Given the description of an element on the screen output the (x, y) to click on. 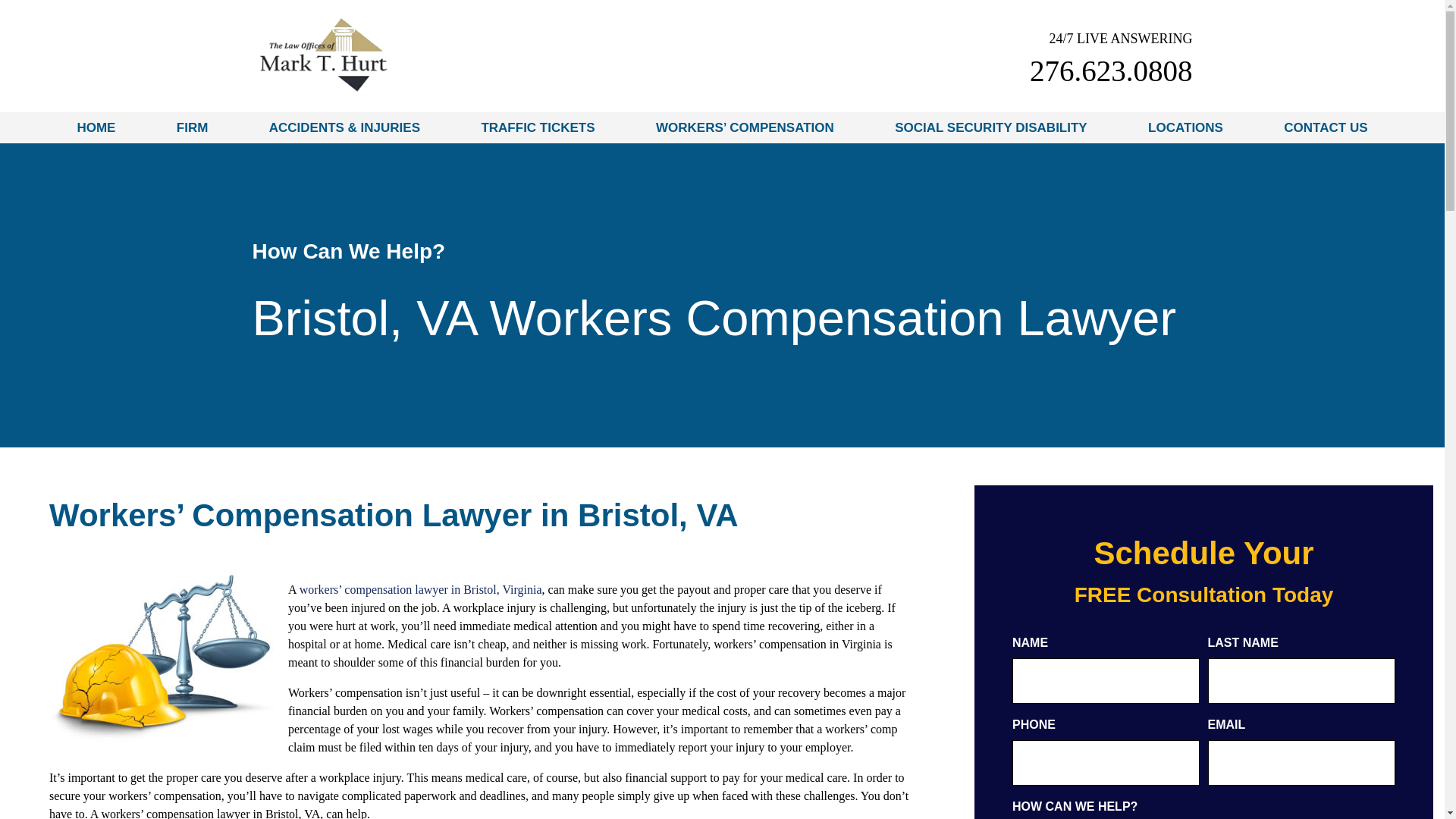
Home (95, 128)
Firm (191, 128)
FIRM (191, 128)
LOCATIONS (1185, 128)
SOCIAL SECURITY DISABILITY (990, 128)
HOME (95, 128)
TRAFFIC TICKETS (537, 128)
276.623.0808 (1110, 70)
